Given the description of an element on the screen output the (x, y) to click on. 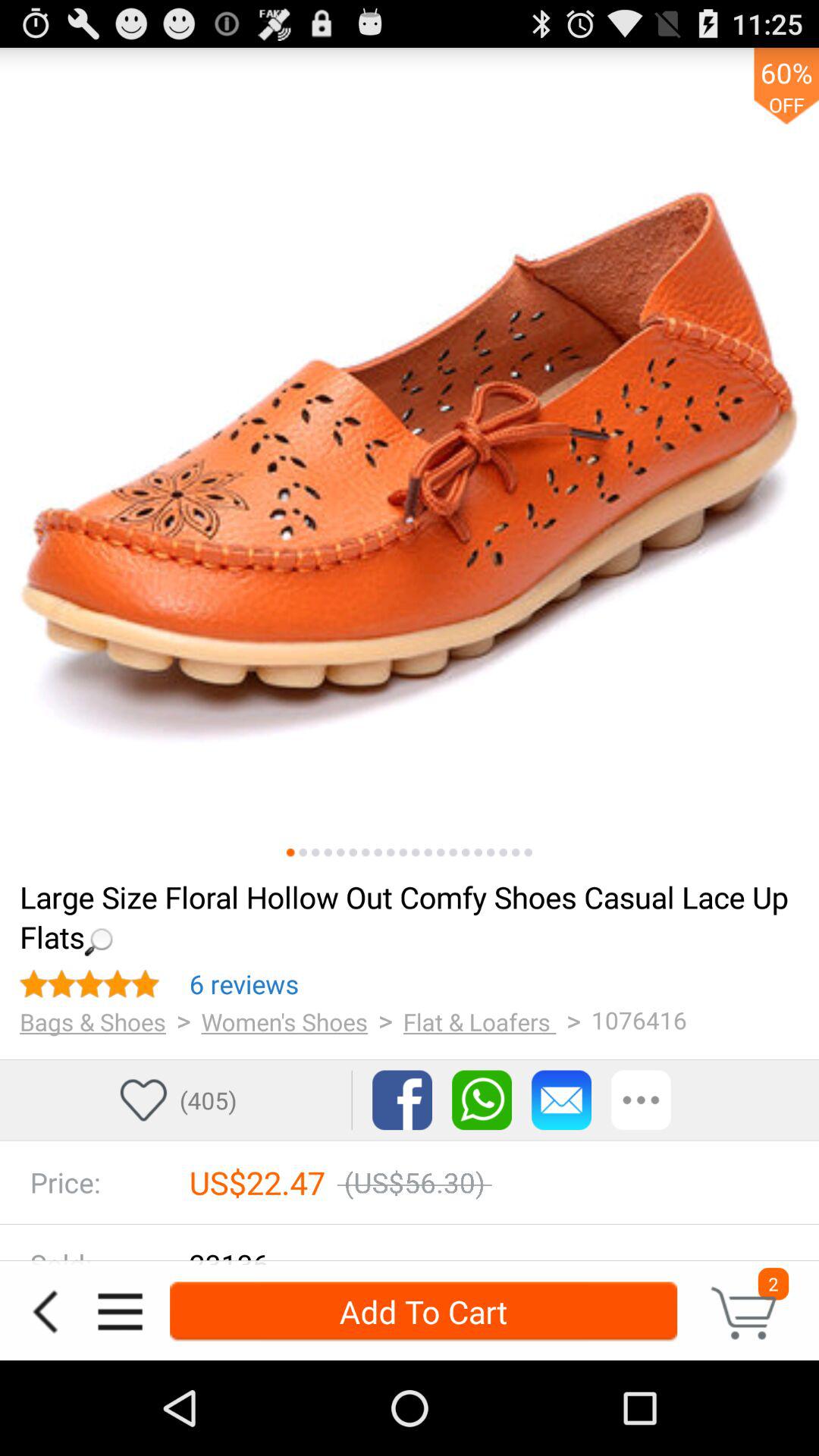
toggle product view (328, 852)
